Given the description of an element on the screen output the (x, y) to click on. 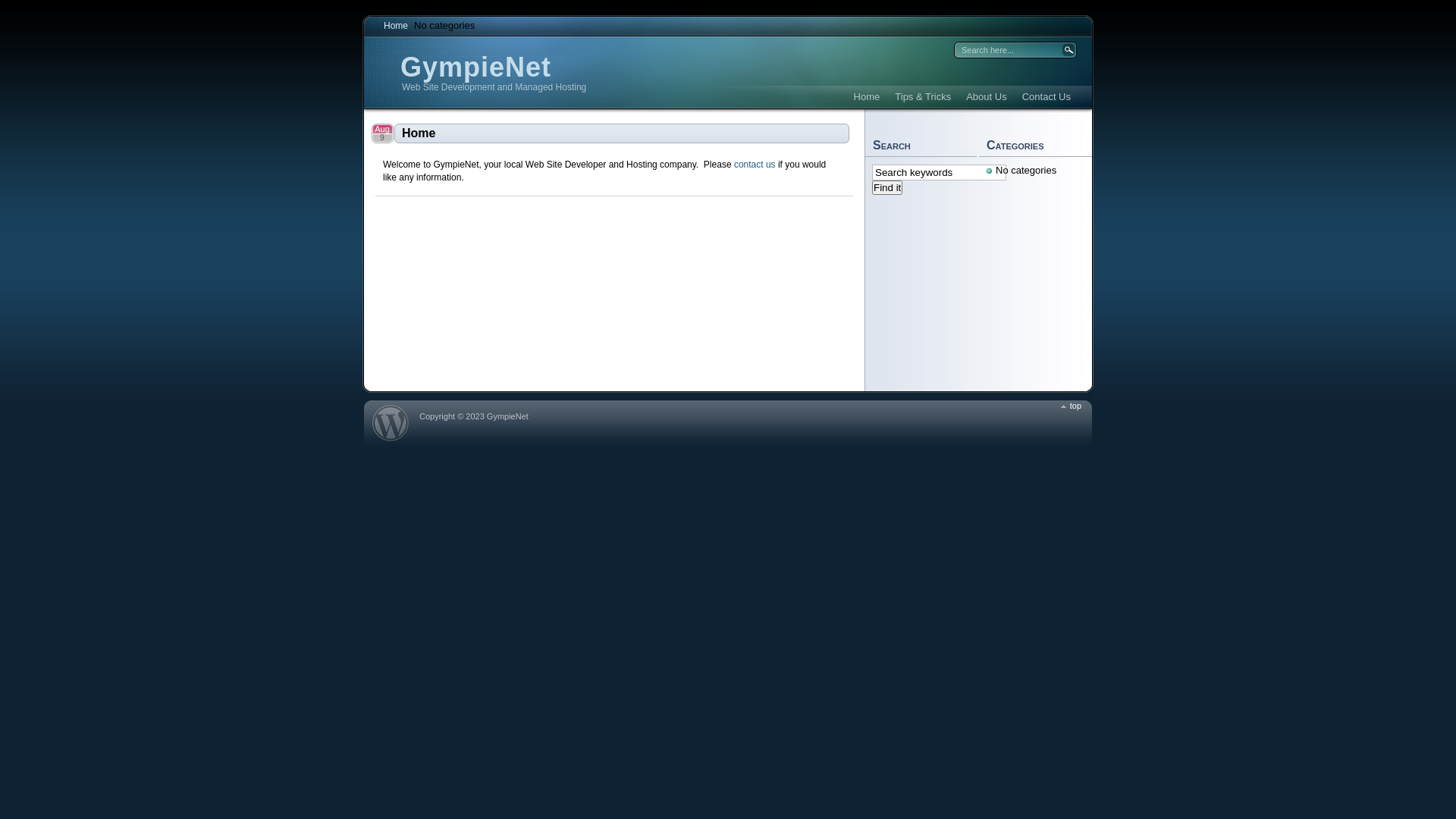
top Element type: text (1070, 405)
contact us Element type: text (754, 164)
Home Element type: text (395, 25)
About Us Element type: text (986, 96)
Find it Element type: text (887, 187)
GympieNet Element type: text (475, 66)
Contact Us Element type: text (1046, 96)
Tips & Tricks Element type: text (922, 96)
Home Element type: text (866, 96)
Home Element type: text (621, 133)
Find Element type: text (1068, 49)
